Given the description of an element on the screen output the (x, y) to click on. 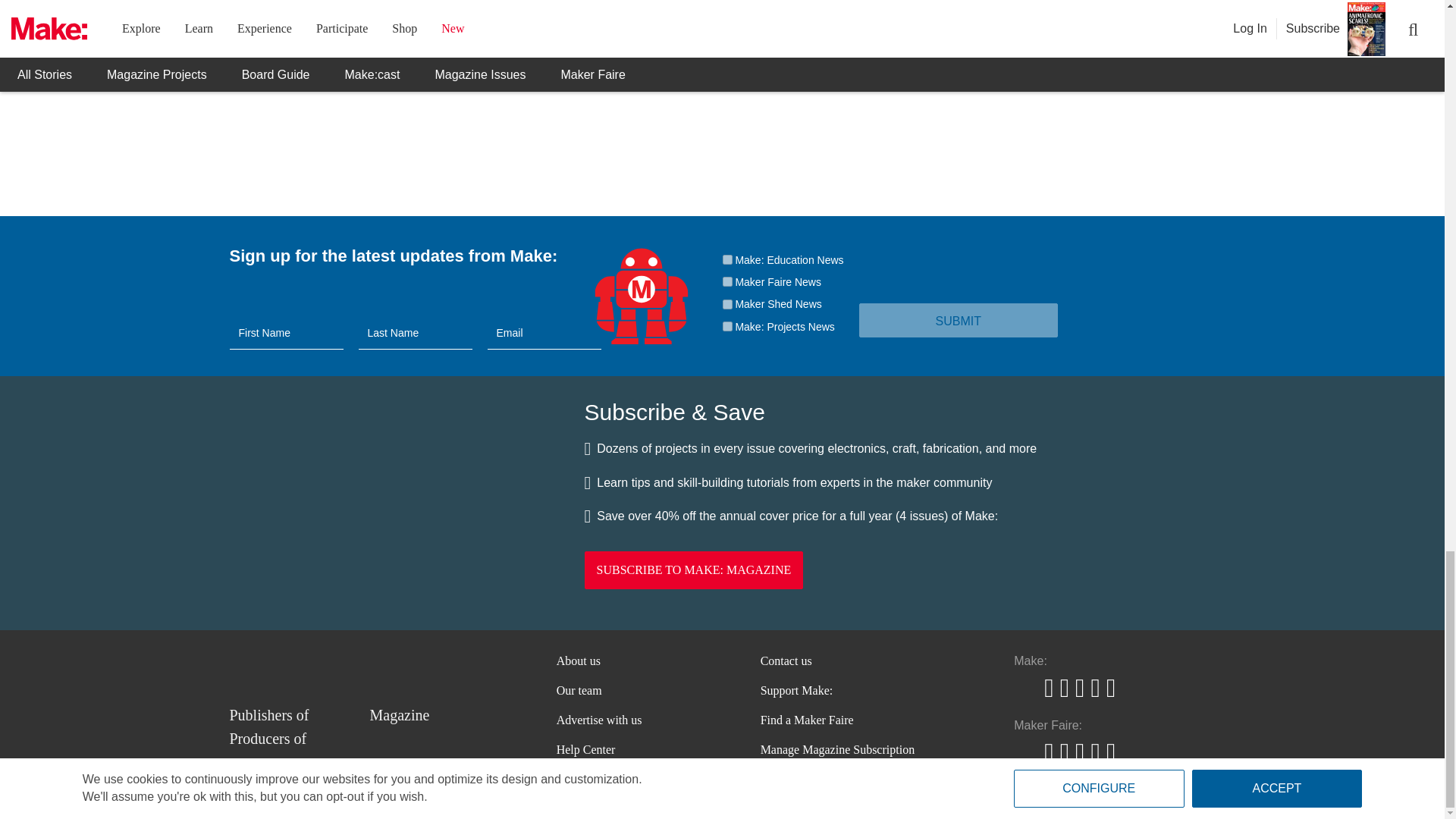
Make: Education News (727, 259)
Make: Projects News (727, 326)
Maker Shed News (727, 304)
Maker Faire News (727, 281)
